Given the description of an element on the screen output the (x, y) to click on. 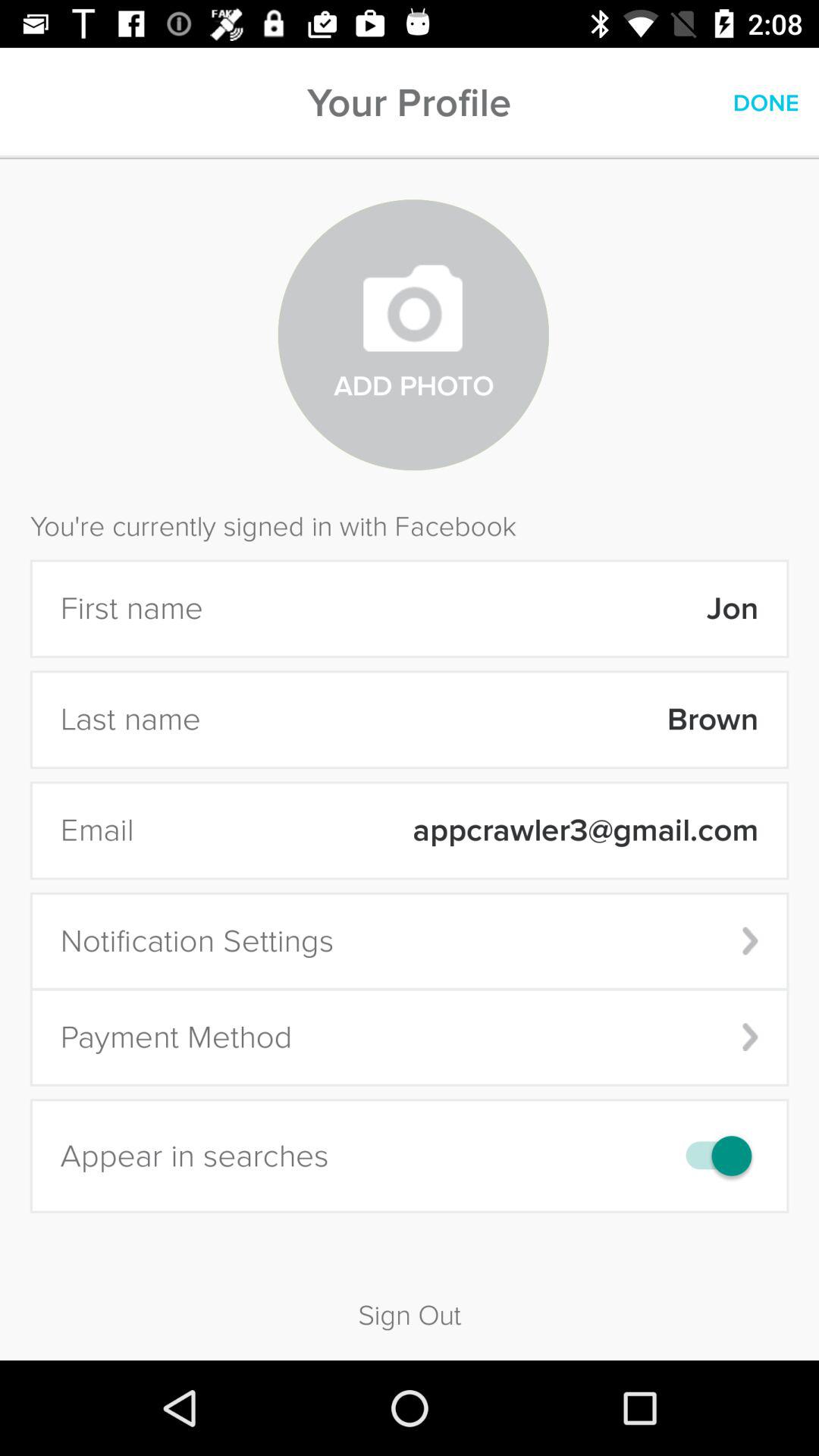
jump until the payment method item (409, 1037)
